Given the description of an element on the screen output the (x, y) to click on. 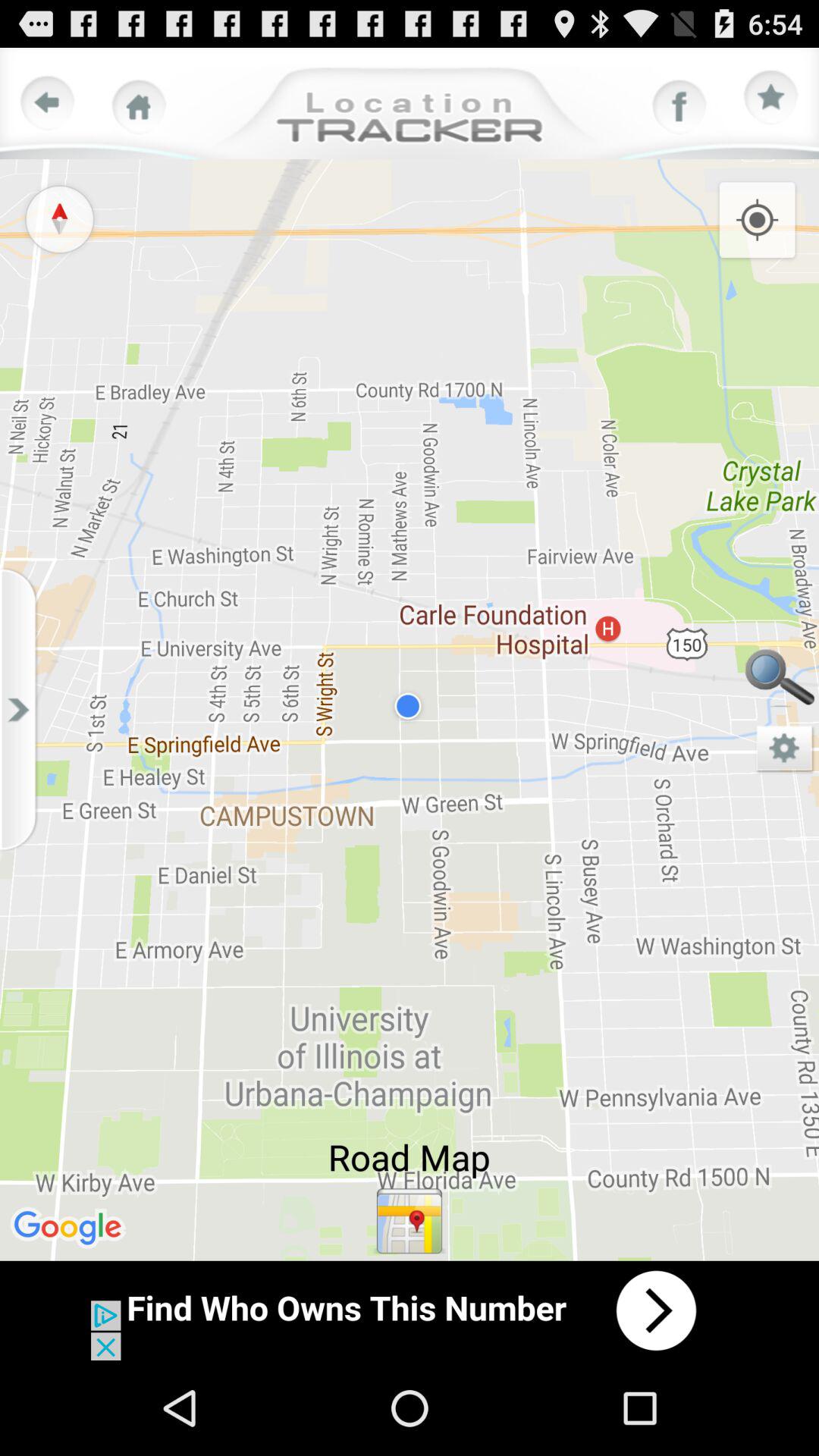
go to home page (139, 107)
